Given the description of an element on the screen output the (x, y) to click on. 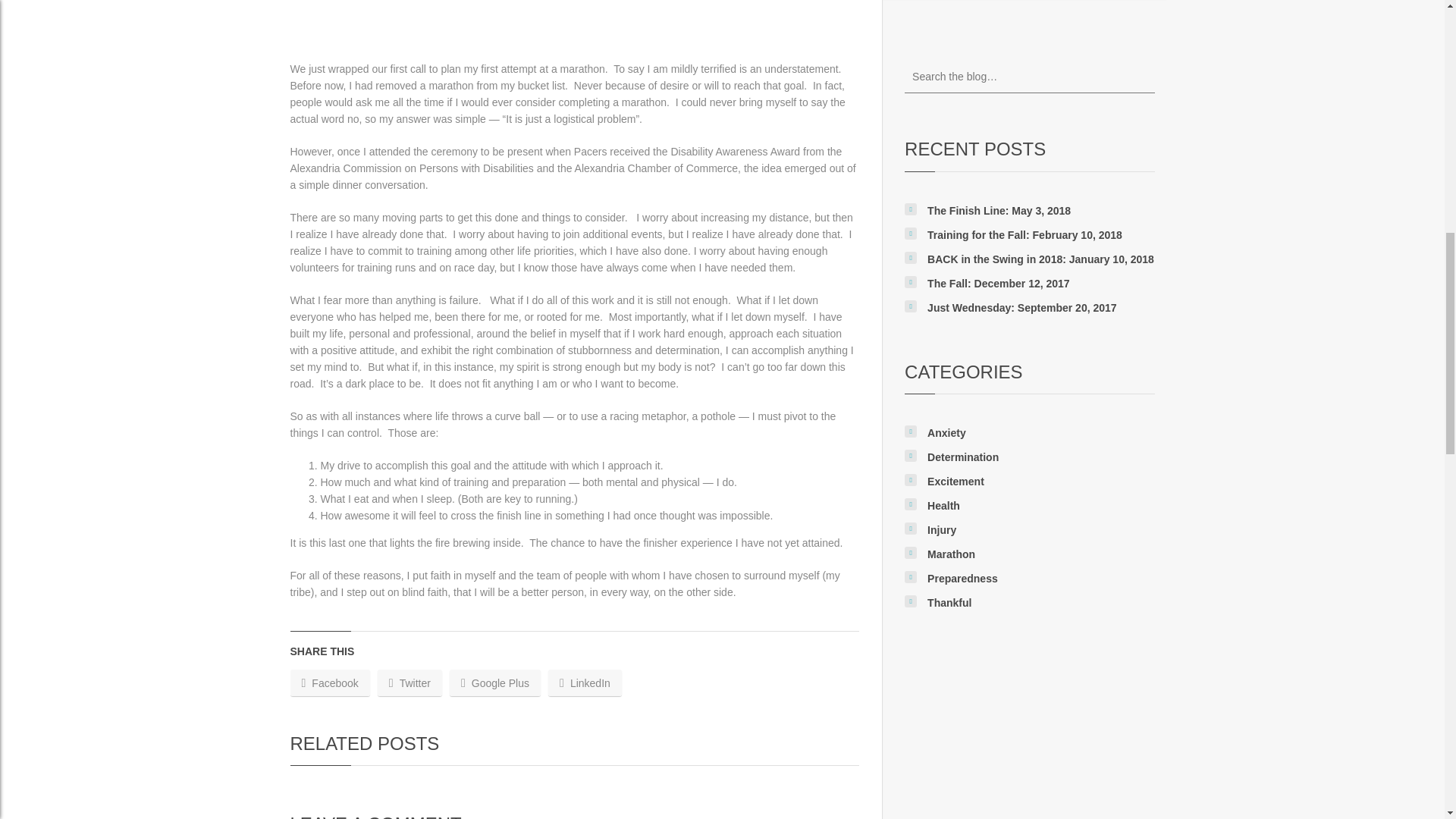
The Fall: December 12, 2017 (998, 283)
Facebook (329, 682)
LinkedIn (584, 682)
Just Wednesday: September 20, 2017 (1021, 307)
BACK in the Swing in 2018: January 10, 2018 (1040, 259)
Excitement (955, 481)
Anxiety (946, 432)
Twitter (409, 682)
Health (943, 505)
Marathon (951, 553)
Determination (962, 457)
Google Plus (494, 682)
The Finish Line: May 3, 2018 (998, 210)
Thankful (949, 603)
Training for the Fall: February 10, 2018 (1024, 234)
